Given the description of an element on the screen output the (x, y) to click on. 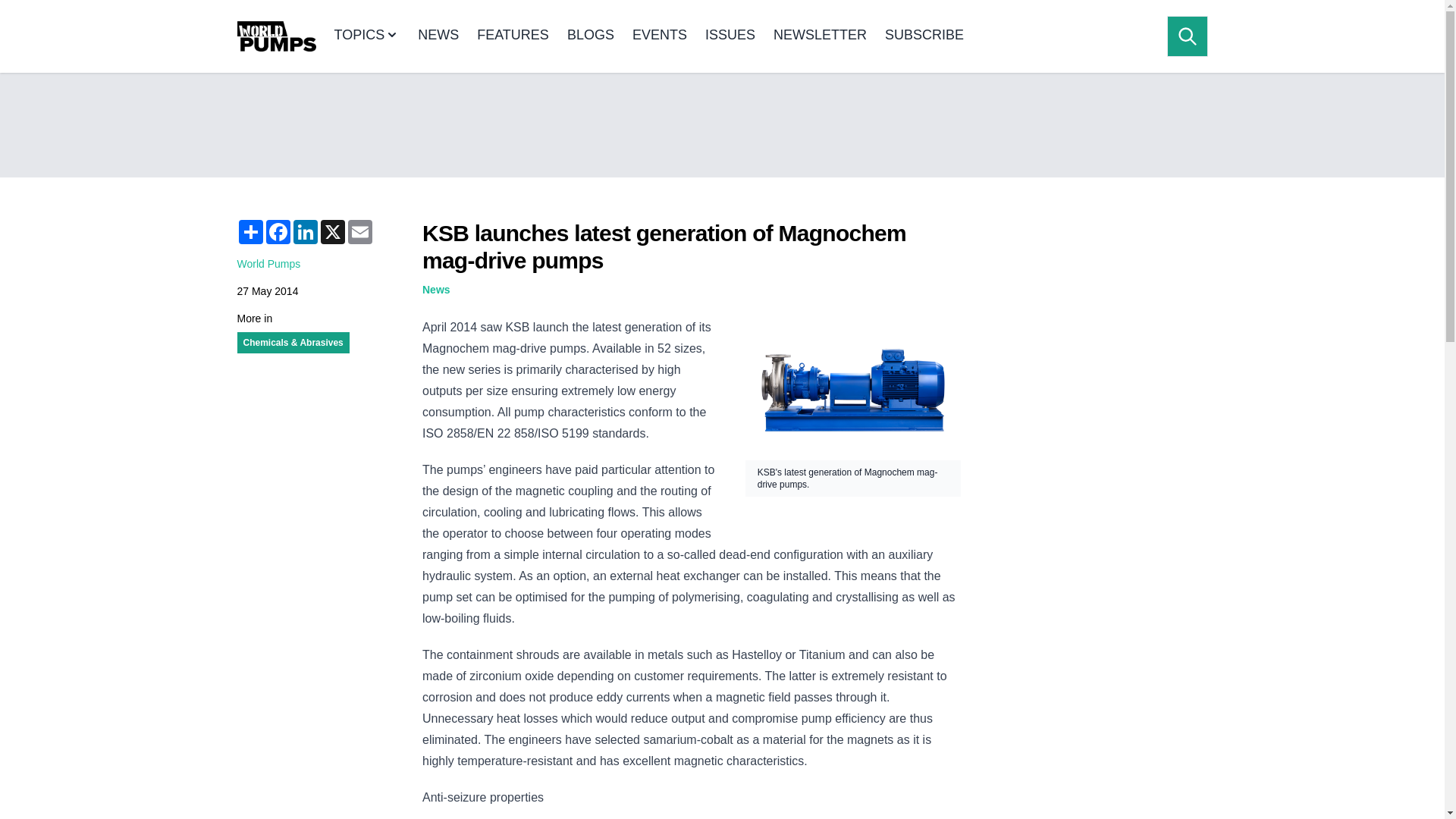
Facebook (277, 232)
Email (359, 232)
TOPICS (365, 36)
FEATURES (512, 36)
BLOGS (590, 36)
3rd party ad content (721, 124)
X (332, 232)
3rd party ad content (1093, 761)
SUBSCRIBE (924, 36)
NEWS (437, 36)
